Given the description of an element on the screen output the (x, y) to click on. 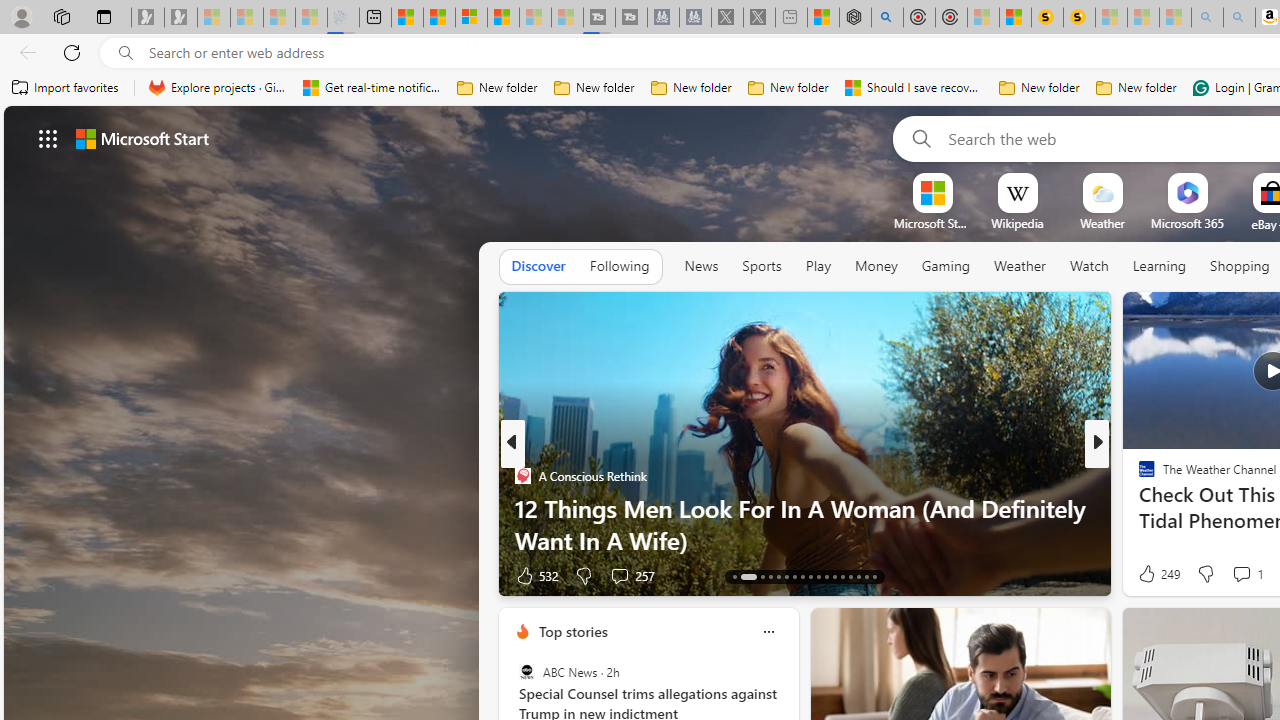
3 Like (1145, 574)
Scripps News (1138, 475)
27 Like (1149, 574)
AutomationID: tab-27 (857, 576)
GlocalMe (1155, 507)
A Conscious Rethink (522, 475)
45 Like (1149, 574)
606 Like (1151, 574)
ABC News (526, 672)
poe - Search (886, 17)
AutomationID: tab-15 (761, 576)
